Given the description of an element on the screen output the (x, y) to click on. 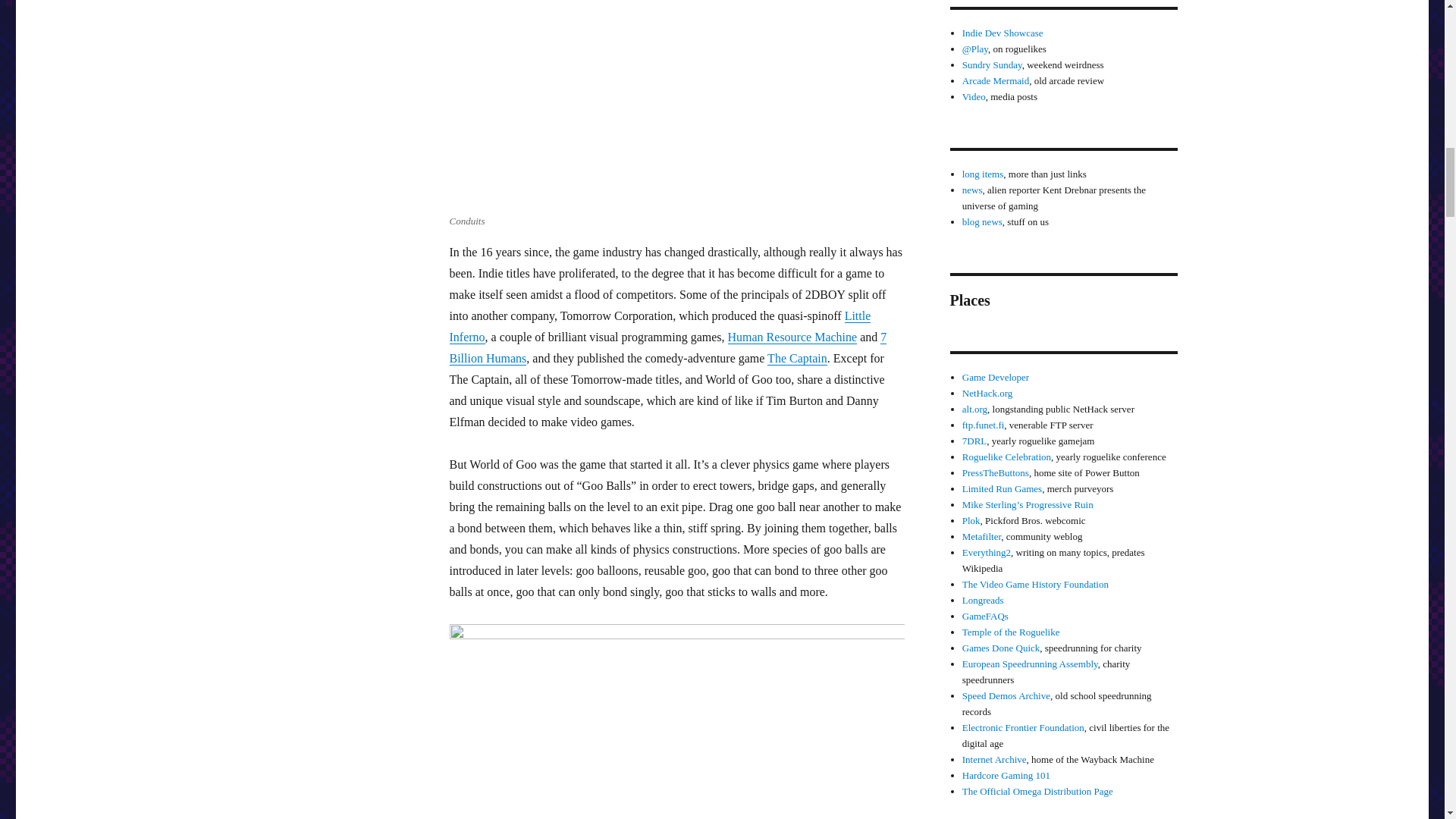
Human Resource Machine (792, 336)
7 Billion Humans (667, 347)
Little Inferno (659, 326)
The Captain (797, 358)
